Given the description of an element on the screen output the (x, y) to click on. 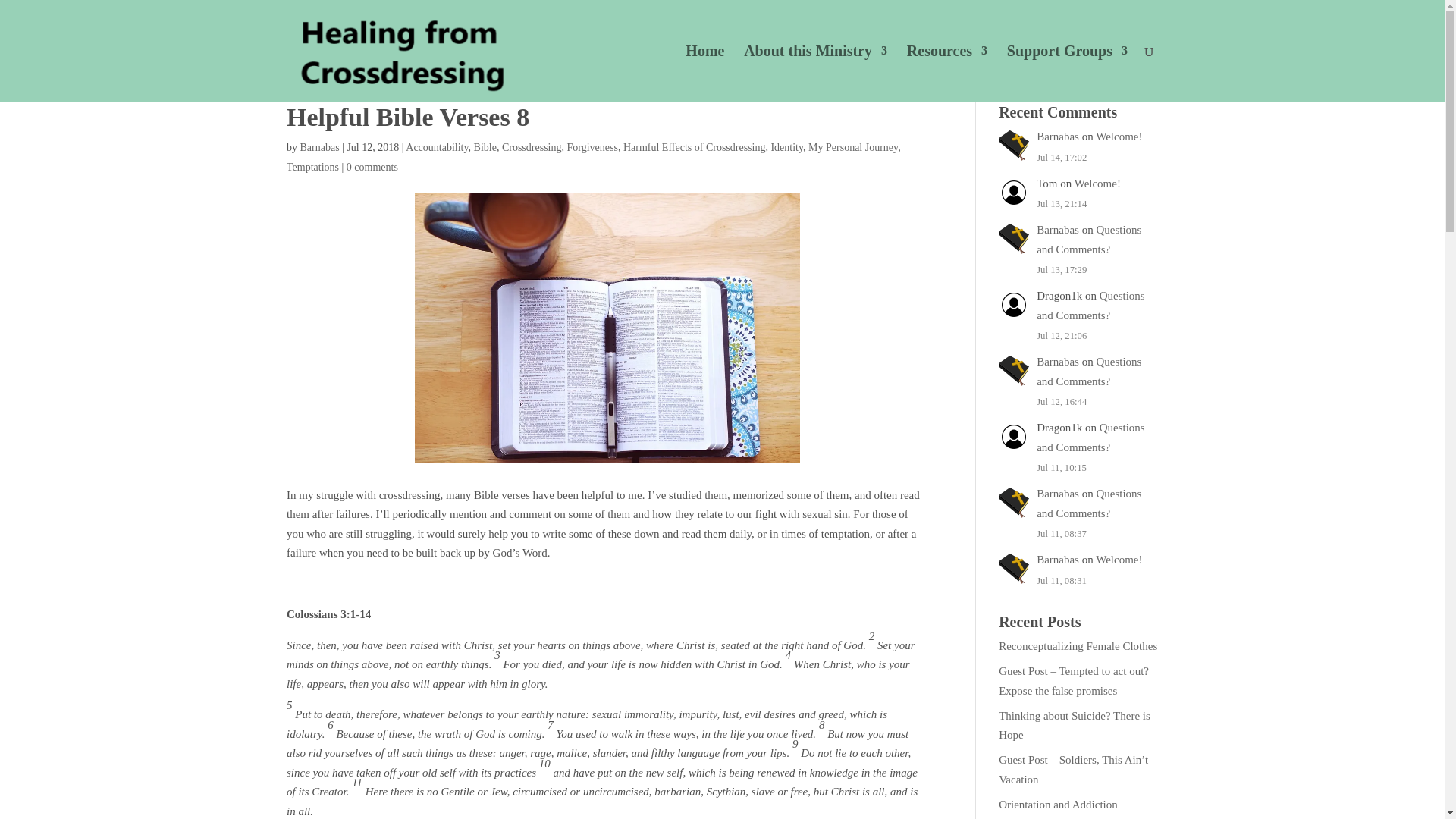
Forgiveness (591, 147)
About this Ministry (815, 73)
Resources (947, 73)
Harmful Effects of Crossdressing (694, 147)
Posts by Barnabas (319, 147)
0 comments (371, 165)
Questions and Comments? (1090, 437)
Accountability (436, 147)
My Personal Journey (853, 147)
Welcome! (1118, 136)
Welcome! (1097, 183)
Bible (485, 147)
Questions and Comments? (1088, 371)
Barnabas (1057, 229)
Identity (786, 147)
